Given the description of an element on the screen output the (x, y) to click on. 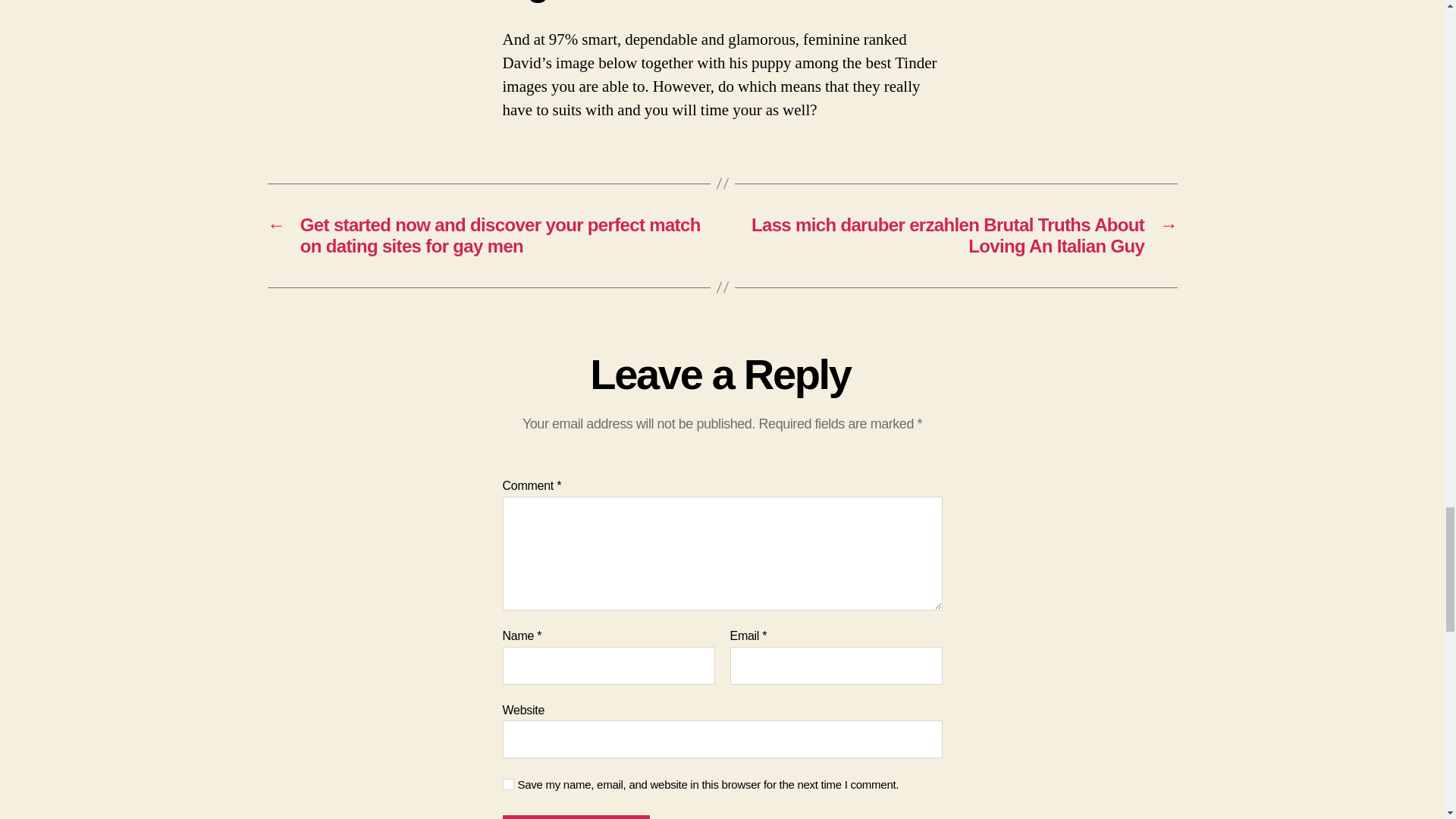
yes (507, 784)
Post Comment (575, 816)
Post Comment (575, 816)
